Given the description of an element on the screen output the (x, y) to click on. 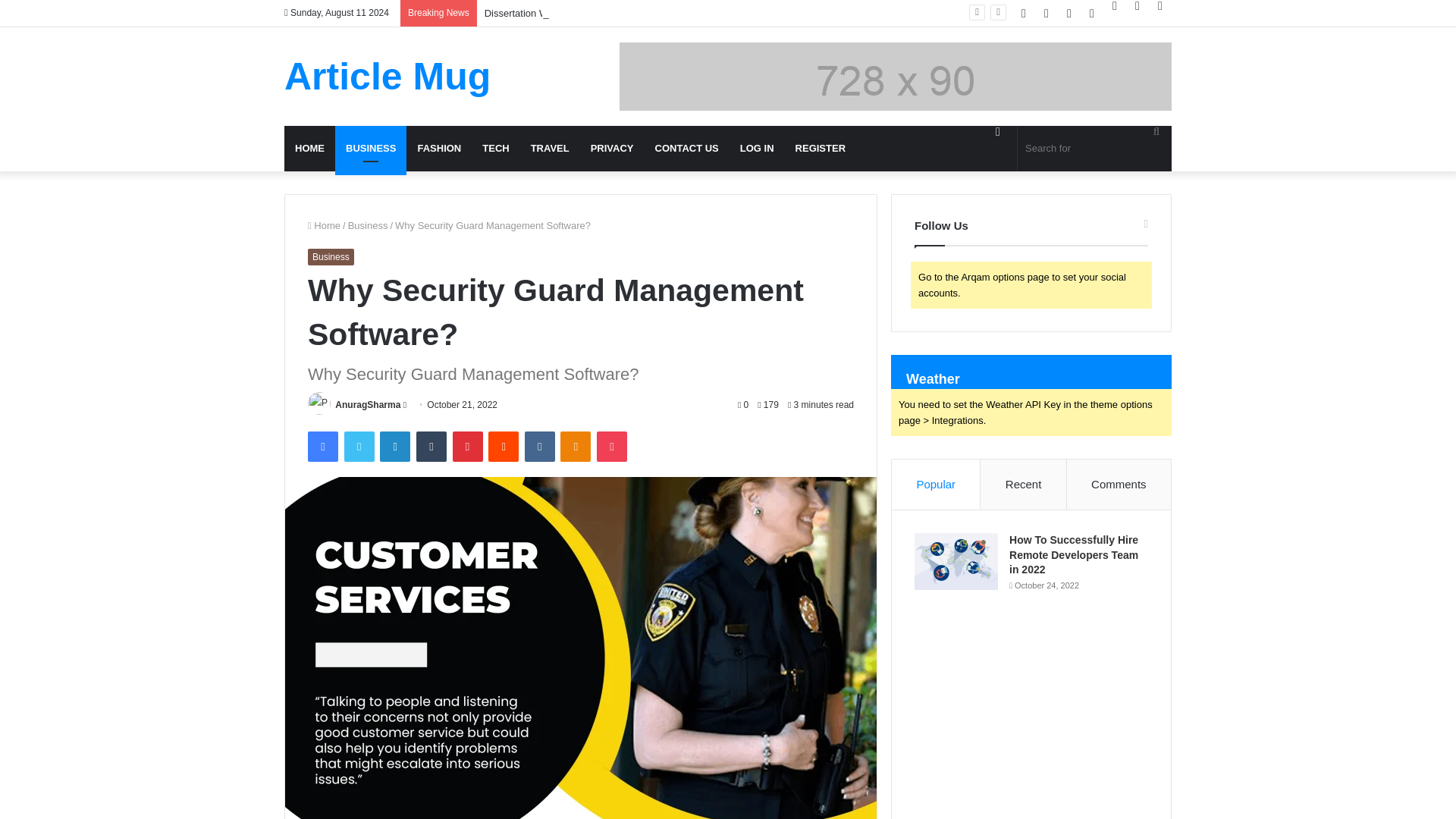
TRAVEL (549, 148)
PRIVACY (612, 148)
TECH (495, 148)
Search for (1156, 131)
REGISTER (820, 148)
Random Article (1136, 6)
Sidebar (1160, 6)
BUSINESS (370, 148)
Random Article (1136, 6)
